Given the description of an element on the screen output the (x, y) to click on. 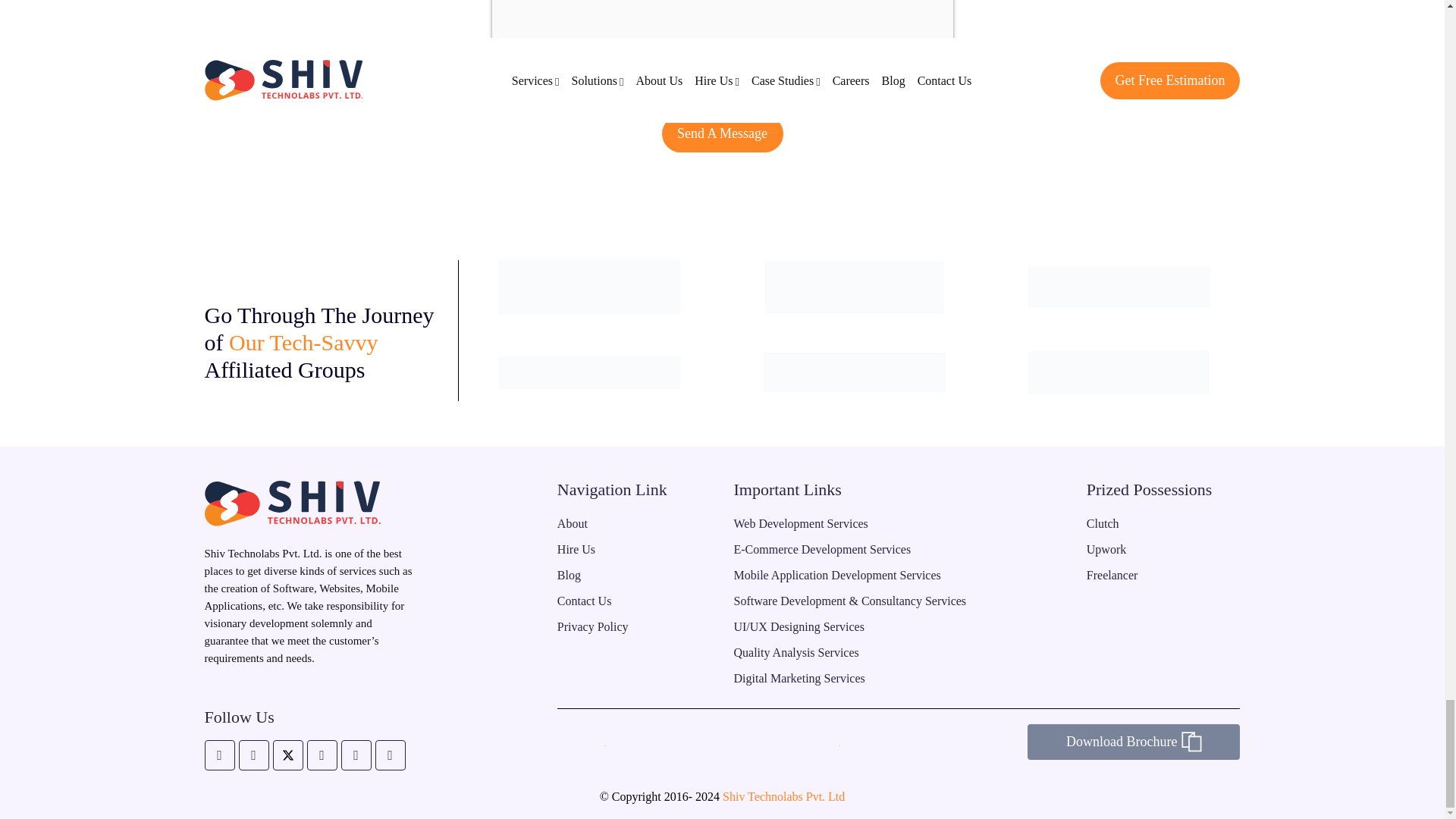
Send a Message (722, 133)
